Given the description of an element on the screen output the (x, y) to click on. 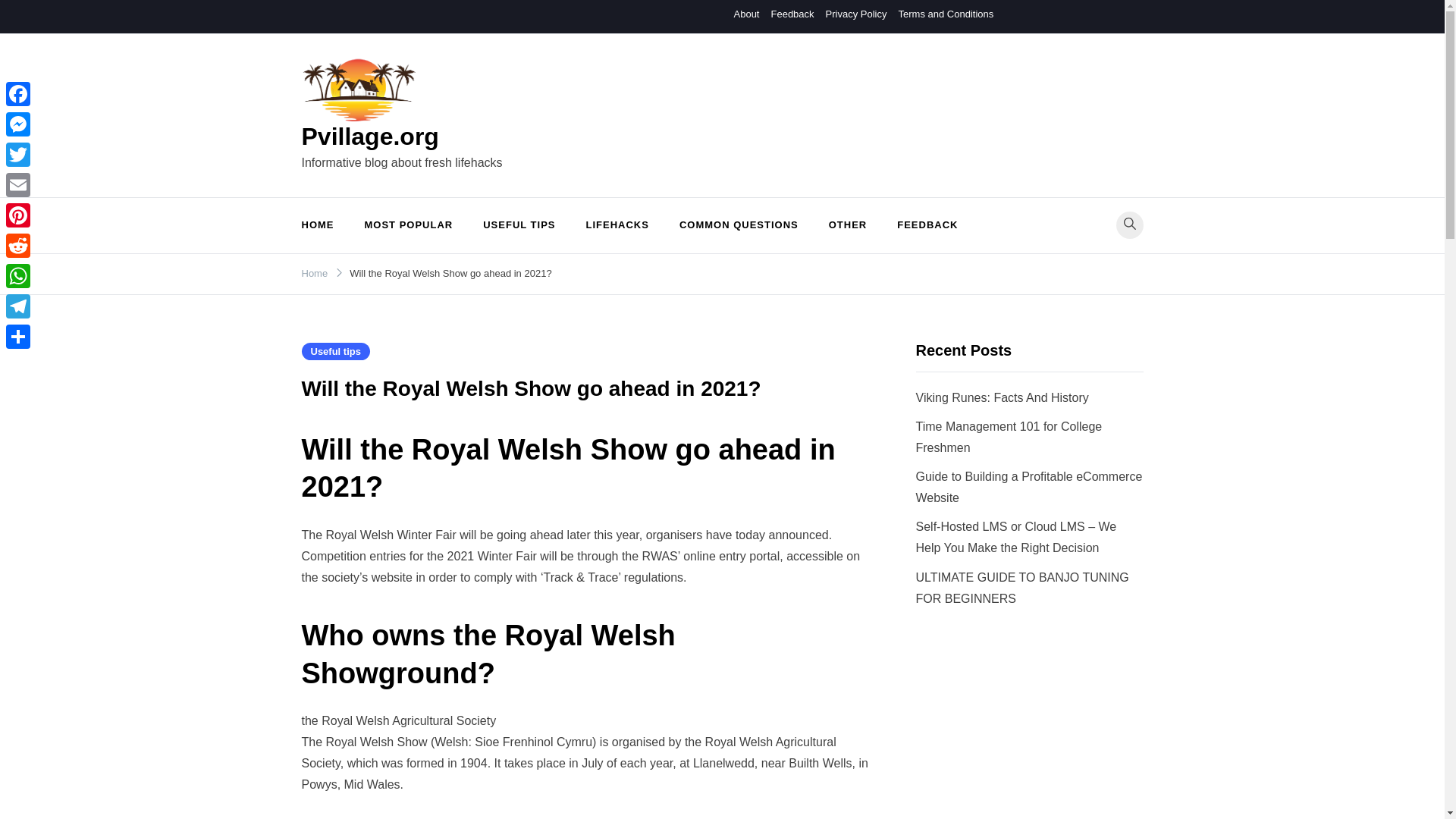
About (746, 13)
Pinterest (17, 214)
OTHER (847, 225)
Terms and Conditions (945, 13)
Reddit (17, 245)
Viking Runes: Facts And History (1002, 397)
Home (315, 273)
Messenger (17, 123)
LIFEHACKS (616, 225)
Telegram (17, 306)
Useful tips (335, 351)
Facebook (17, 93)
Guide to Building a Profitable eCommerce Website (1028, 487)
WhatsApp (17, 276)
Privacy Policy (855, 13)
